Given the description of an element on the screen output the (x, y) to click on. 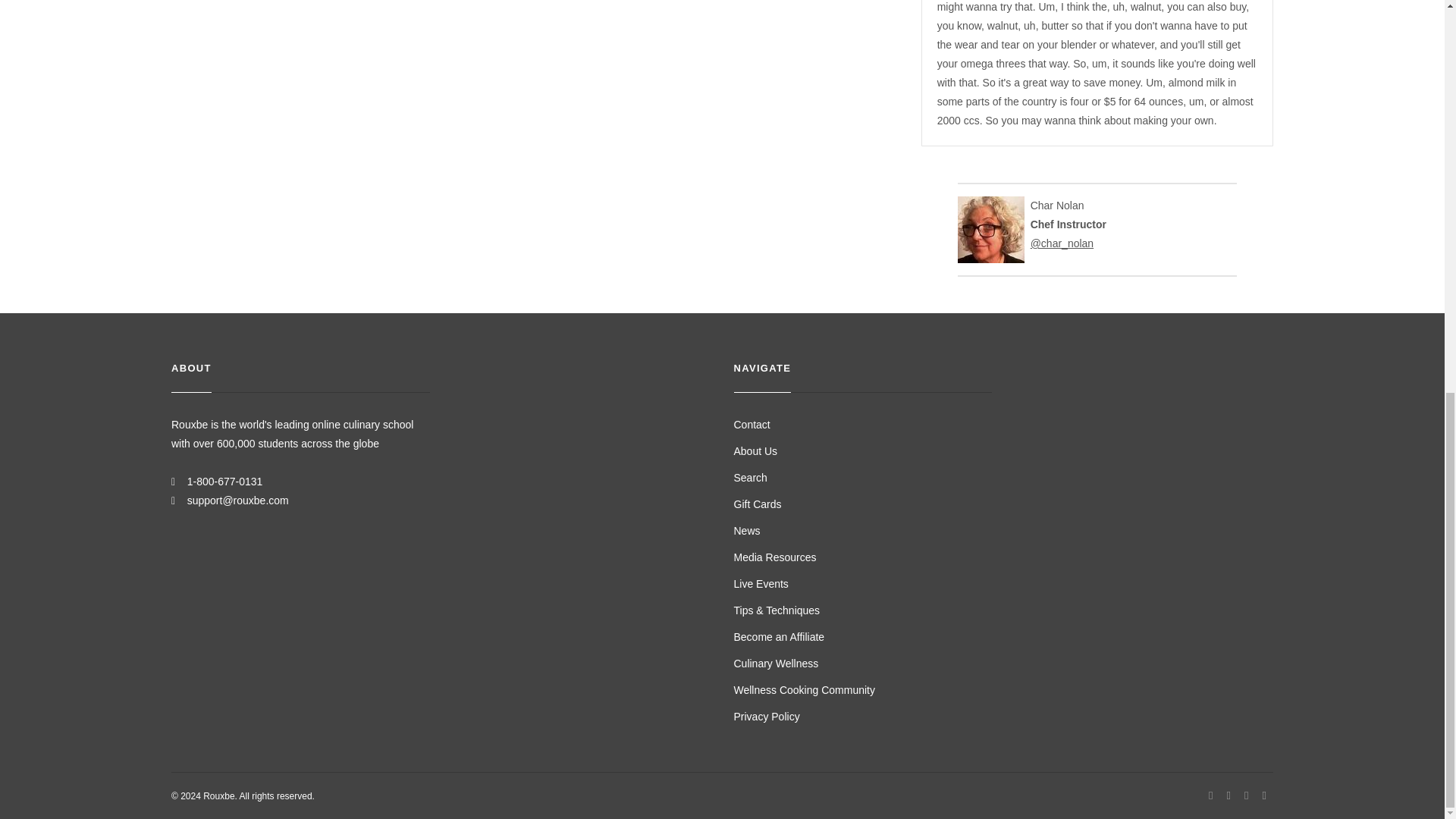
Contact (751, 424)
Search (750, 477)
Media Resources (774, 557)
About Us (755, 451)
News (746, 530)
Culinary Wellness (775, 663)
Become an Affiliate (779, 636)
Live Events (761, 583)
Wellness Cooking Community (804, 689)
Gift Cards (757, 503)
